Given the description of an element on the screen output the (x, y) to click on. 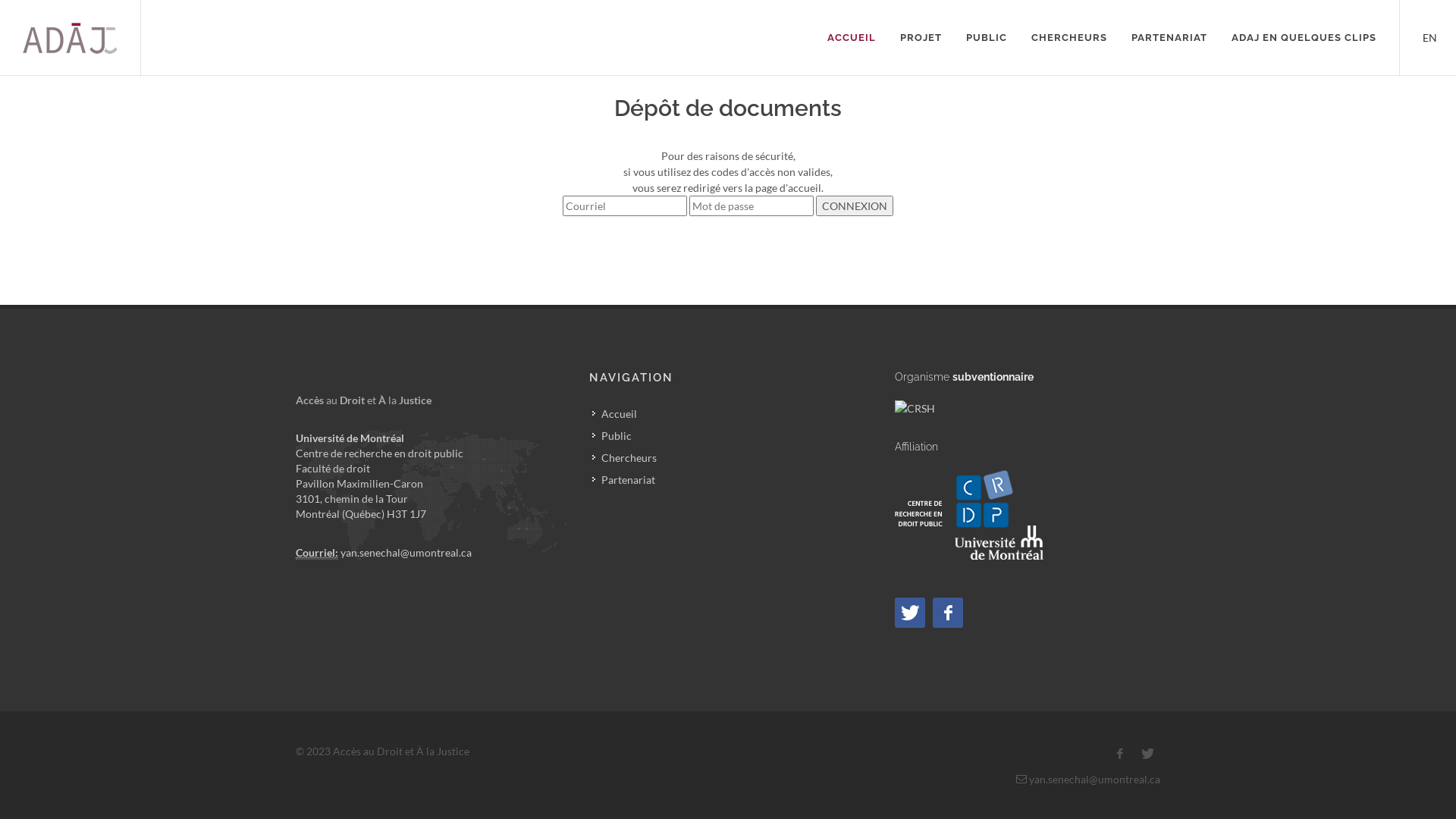
Accueil Element type: text (615, 412)
PROJET Element type: text (920, 37)
CONNEXION Element type: text (854, 205)
Partenariat Element type: text (624, 479)
PARTENARIAT Element type: text (1169, 37)
ACCUEIL Element type: text (851, 37)
Chercheurs Element type: text (625, 456)
ADAJ EN QUELQUES CLIPS Element type: text (1303, 37)
PUBLIC Element type: text (986, 37)
Public Element type: text (612, 435)
EN Element type: text (1427, 35)
CHERCHEURS Element type: text (1068, 37)
